Given the description of an element on the screen output the (x, y) to click on. 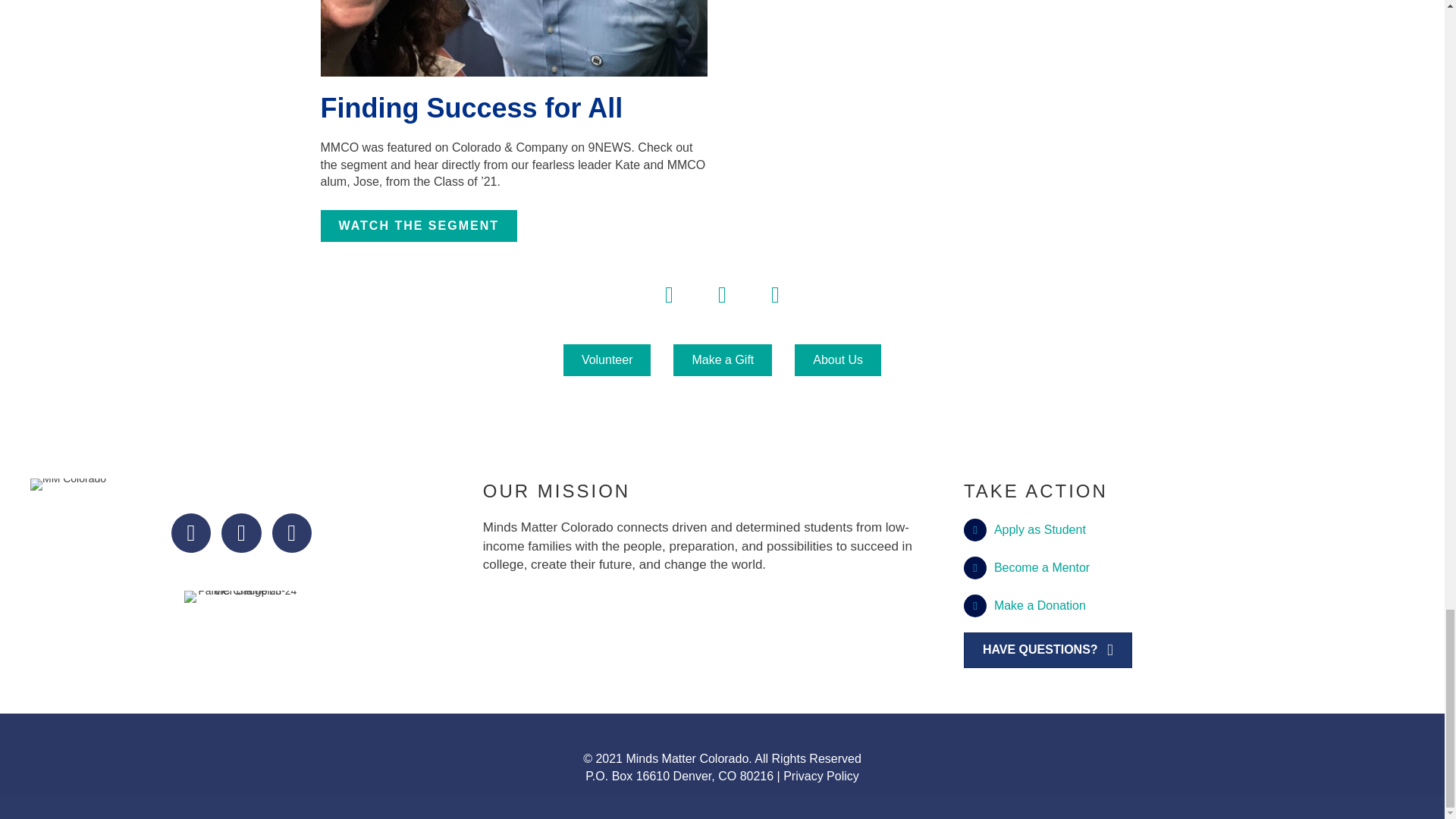
Become a Mentor (1041, 567)
Apply as Student (1040, 529)
Volunteer (606, 359)
MM Colorado (68, 484)
About Us (837, 359)
Make a Gift (721, 359)
WATCH THE SEGMENT (418, 225)
MC Champion Partner Badge 23-24 (241, 596)
